Given the description of an element on the screen output the (x, y) to click on. 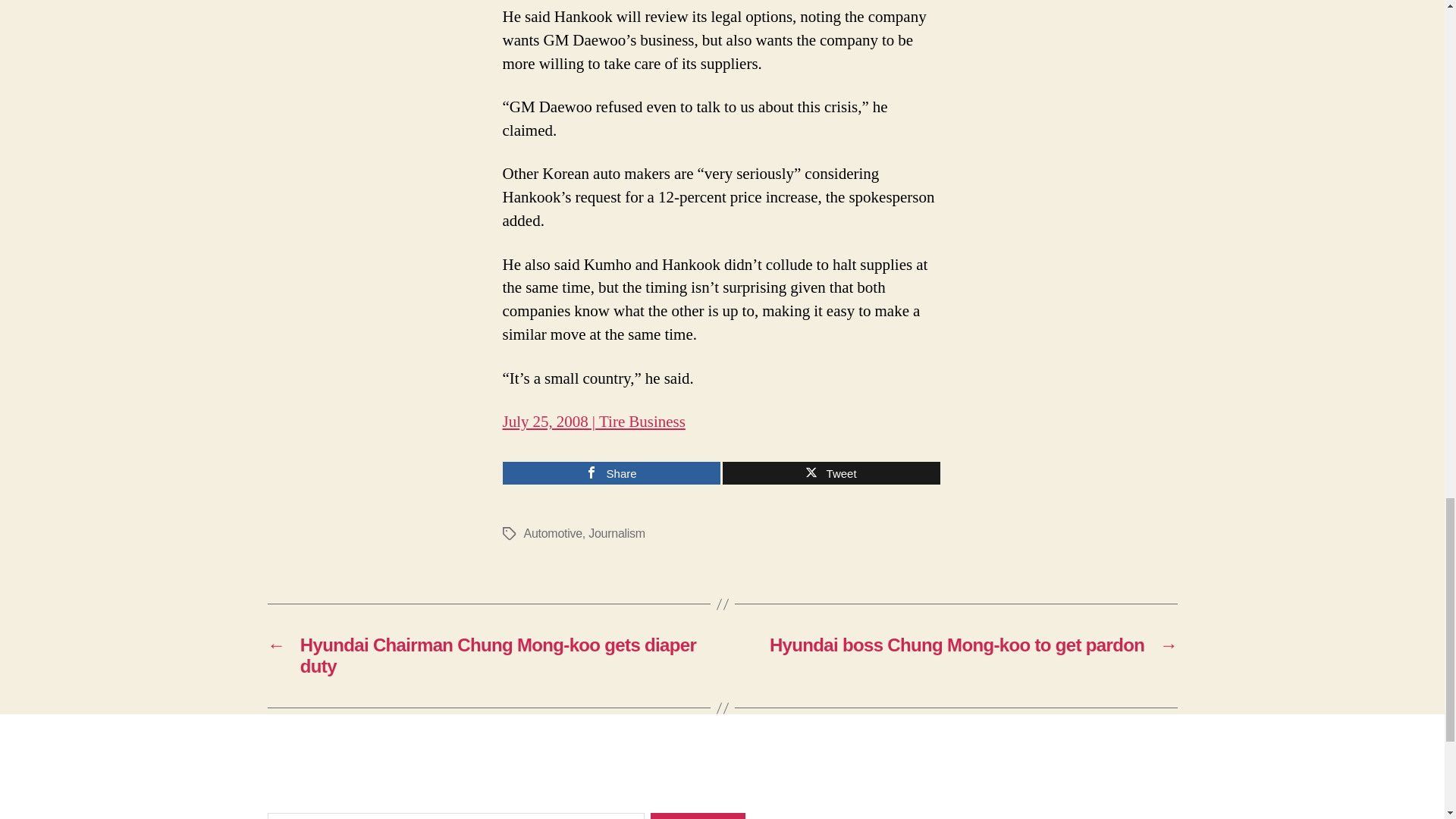
Search (697, 816)
Search (697, 816)
